Given the description of an element on the screen output the (x, y) to click on. 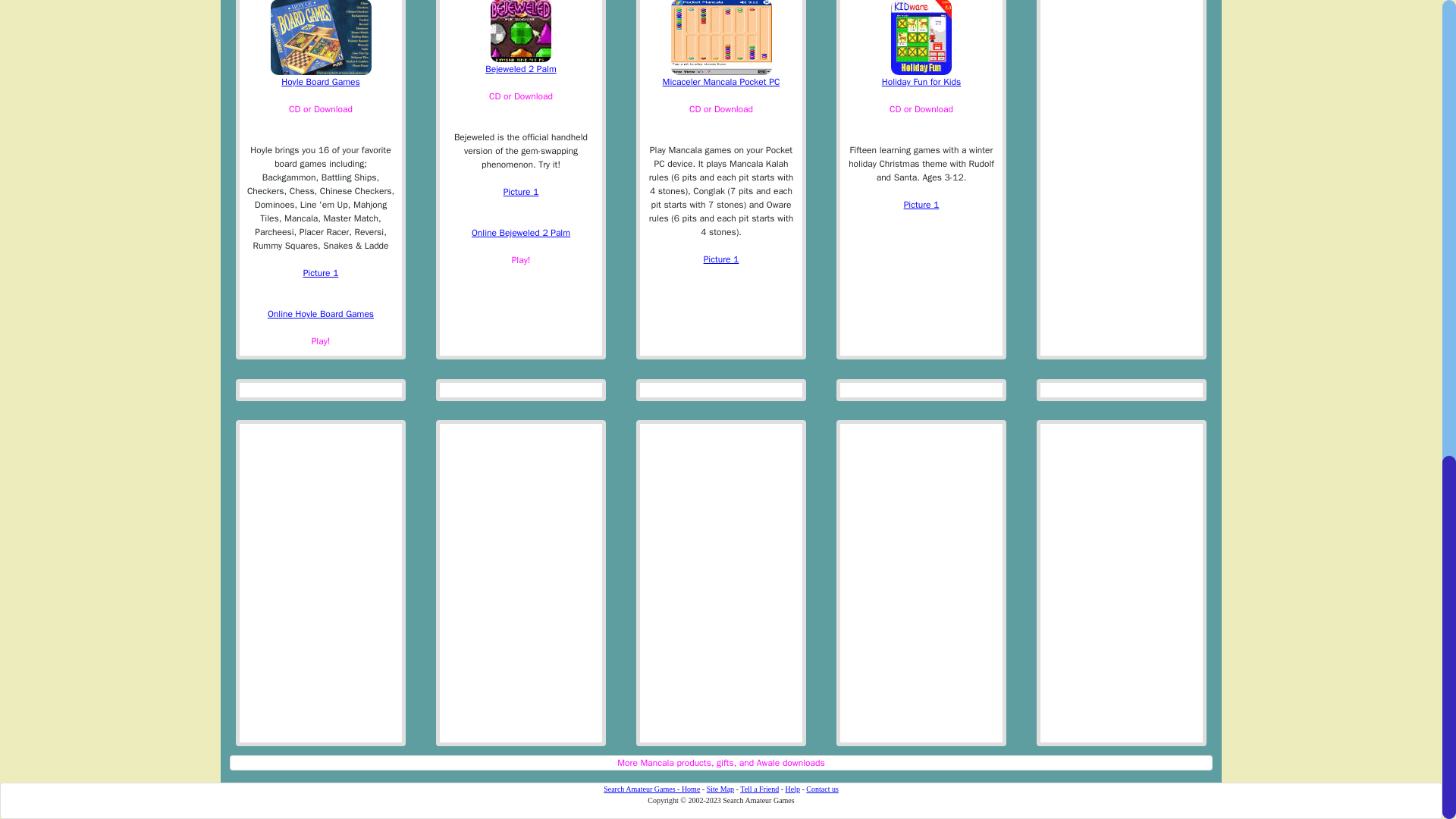
Holiday Fun find Rudolph red nose (921, 204)
hoyle board game (320, 273)
Micaceler Mancala Pocket PC 1 (720, 259)
Bejeweled 2 Palm 1 (520, 192)
